Given the description of an element on the screen output the (x, y) to click on. 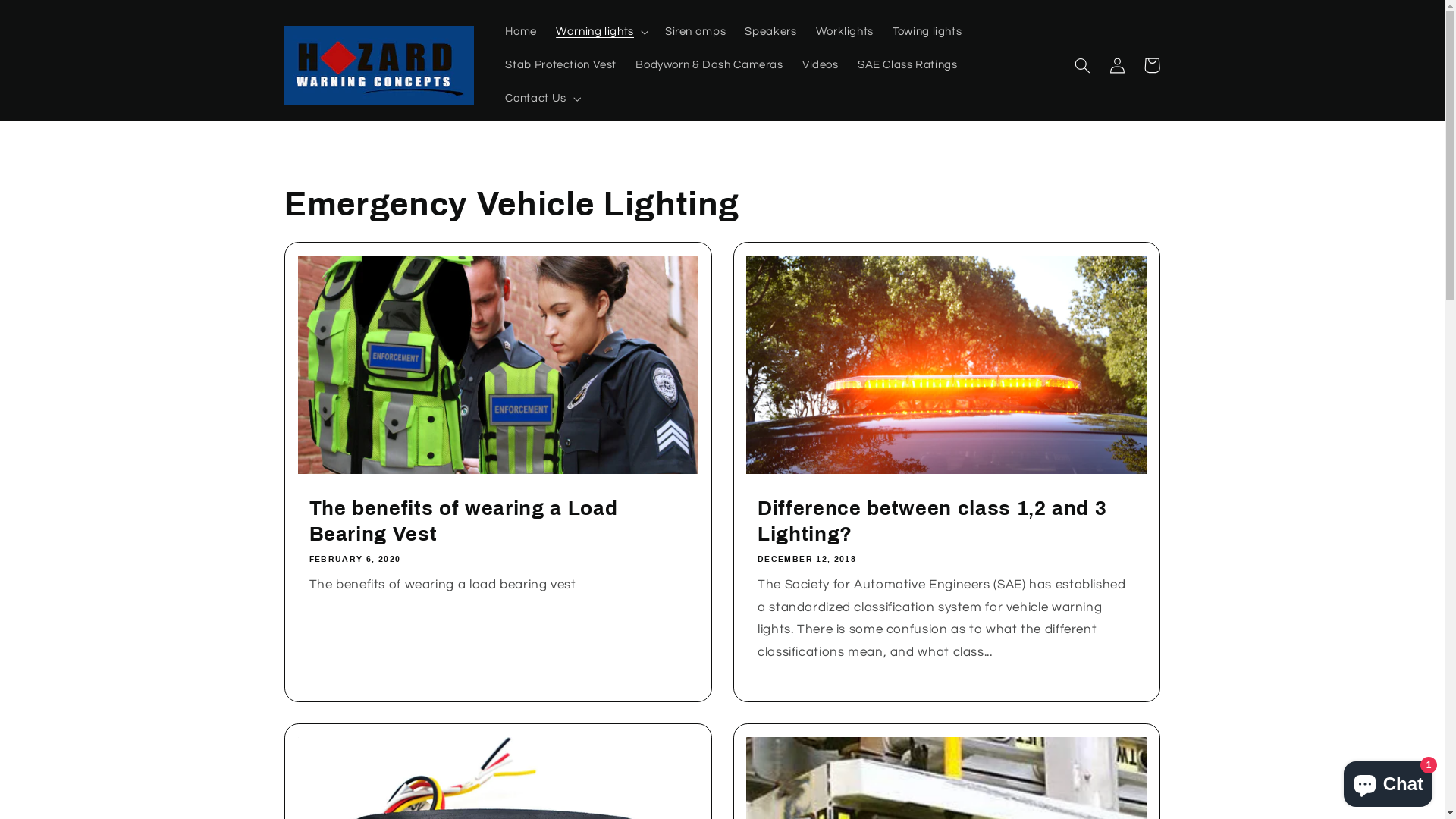
Siren amps Element type: text (695, 31)
Worklights Element type: text (844, 31)
Shopify online store chat Element type: hover (1388, 780)
The benefits of wearing a Load Bearing Vest Element type: text (498, 521)
Cart Element type: text (1151, 64)
Towing lights Element type: text (927, 31)
Speakers Element type: text (770, 31)
Bodyworn & Dash Cameras Element type: text (709, 64)
Videos Element type: text (819, 64)
Stab Protection Vest Element type: text (560, 64)
SAE Class Ratings Element type: text (906, 64)
Home Element type: text (520, 31)
Difference between class 1,2 and 3 Lighting? Element type: text (946, 521)
Log in Element type: text (1116, 64)
